Given the description of an element on the screen output the (x, y) to click on. 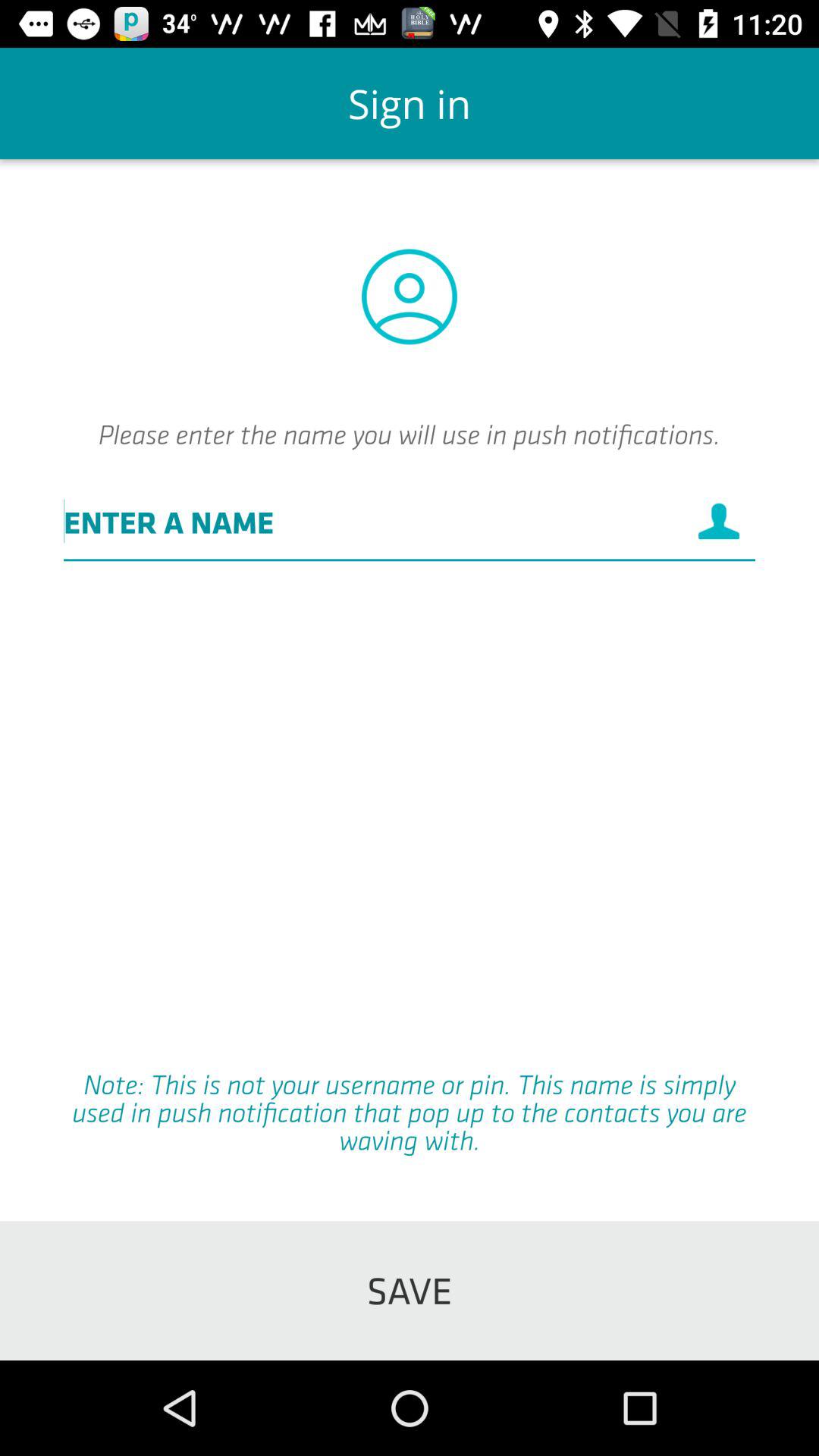
select the save item (409, 1290)
